Given the description of an element on the screen output the (x, y) to click on. 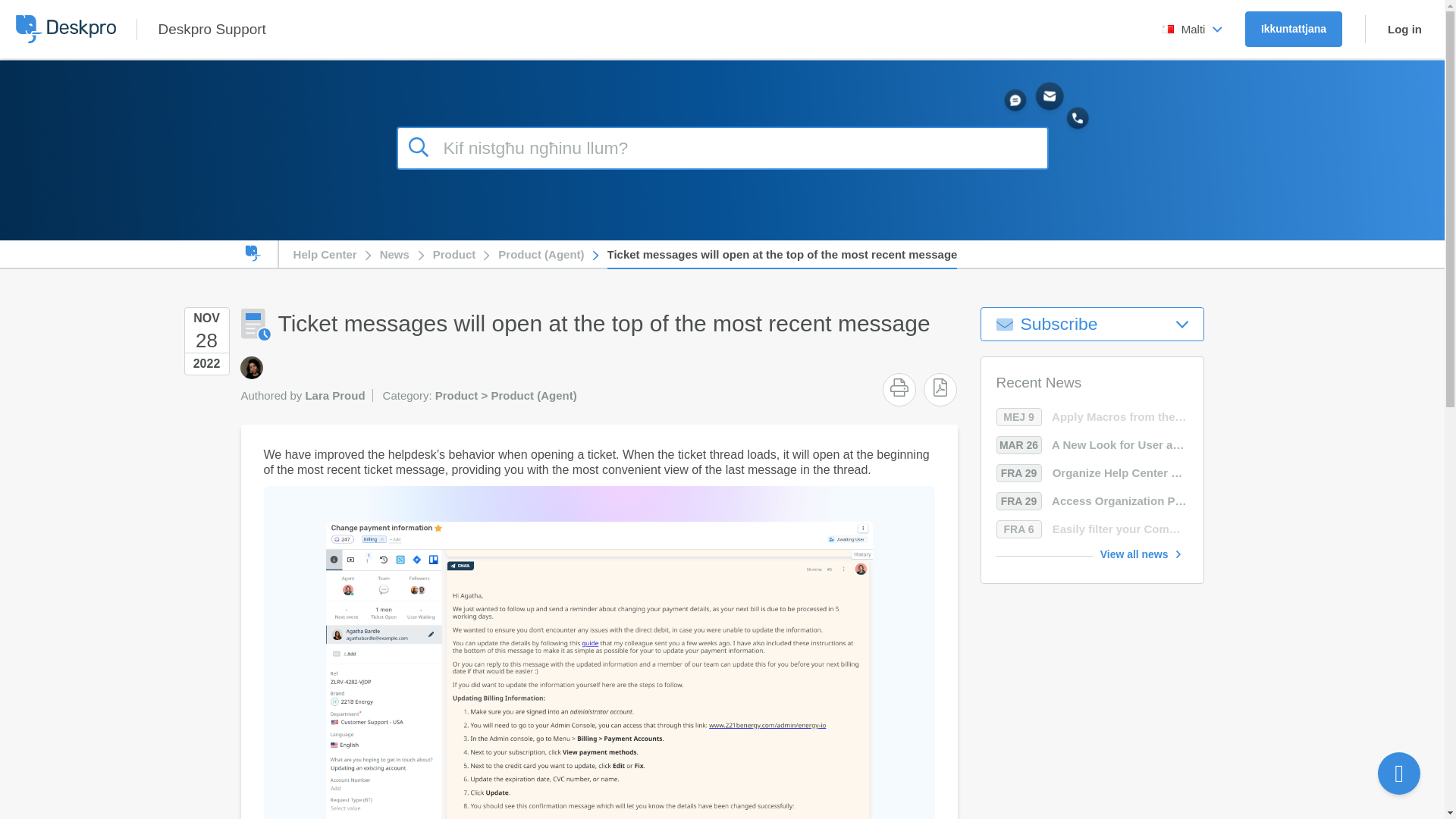
Deskpro Support (210, 29)
Pdf (940, 387)
Print (898, 387)
Malti (1192, 29)
Pdf (940, 387)
Lara Proud (250, 367)
Print (898, 387)
